Given the description of an element on the screen output the (x, y) to click on. 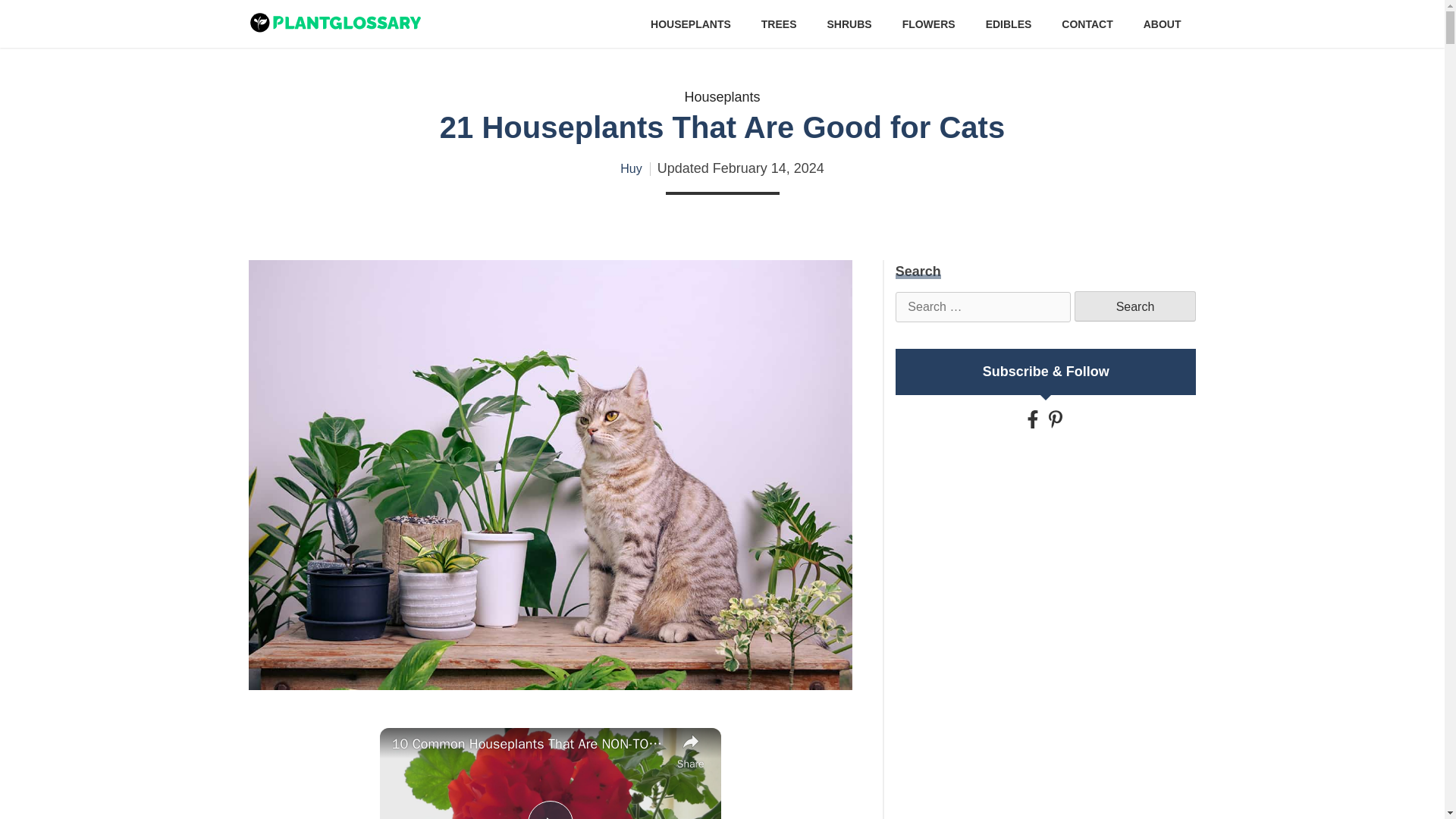
EDIBLES (1008, 23)
SHRUBS (848, 23)
Huy (631, 168)
Search (1134, 306)
FLOWERS (928, 23)
Search (1134, 306)
ABOUT (1161, 23)
HOUSEPLANTS (690, 23)
Houseplants (722, 97)
Play Video (550, 809)
TREES (778, 23)
Play Video (550, 809)
10 Common Houseplants That Are NON-TOXIC To Cats (530, 744)
Houseplants (722, 97)
CONTACT (1086, 23)
